Given the description of an element on the screen output the (x, y) to click on. 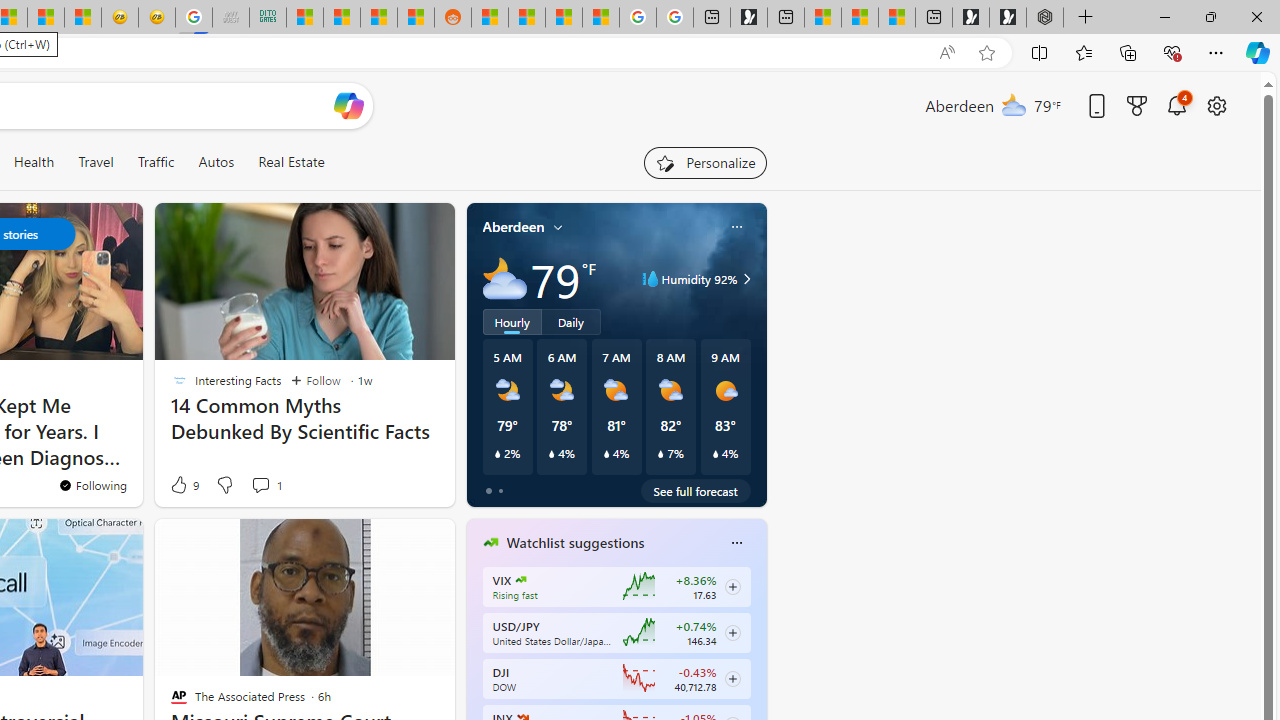
Real Estate (291, 161)
Health (33, 162)
View comments 1 Comment (265, 484)
Class: weather-arrow-glyph (746, 278)
Travel (95, 161)
Class: icon-img (736, 542)
These 3 Stocks Pay You More Than 5% to Own Them (897, 17)
next (756, 670)
